Given the description of an element on the screen output the (x, y) to click on. 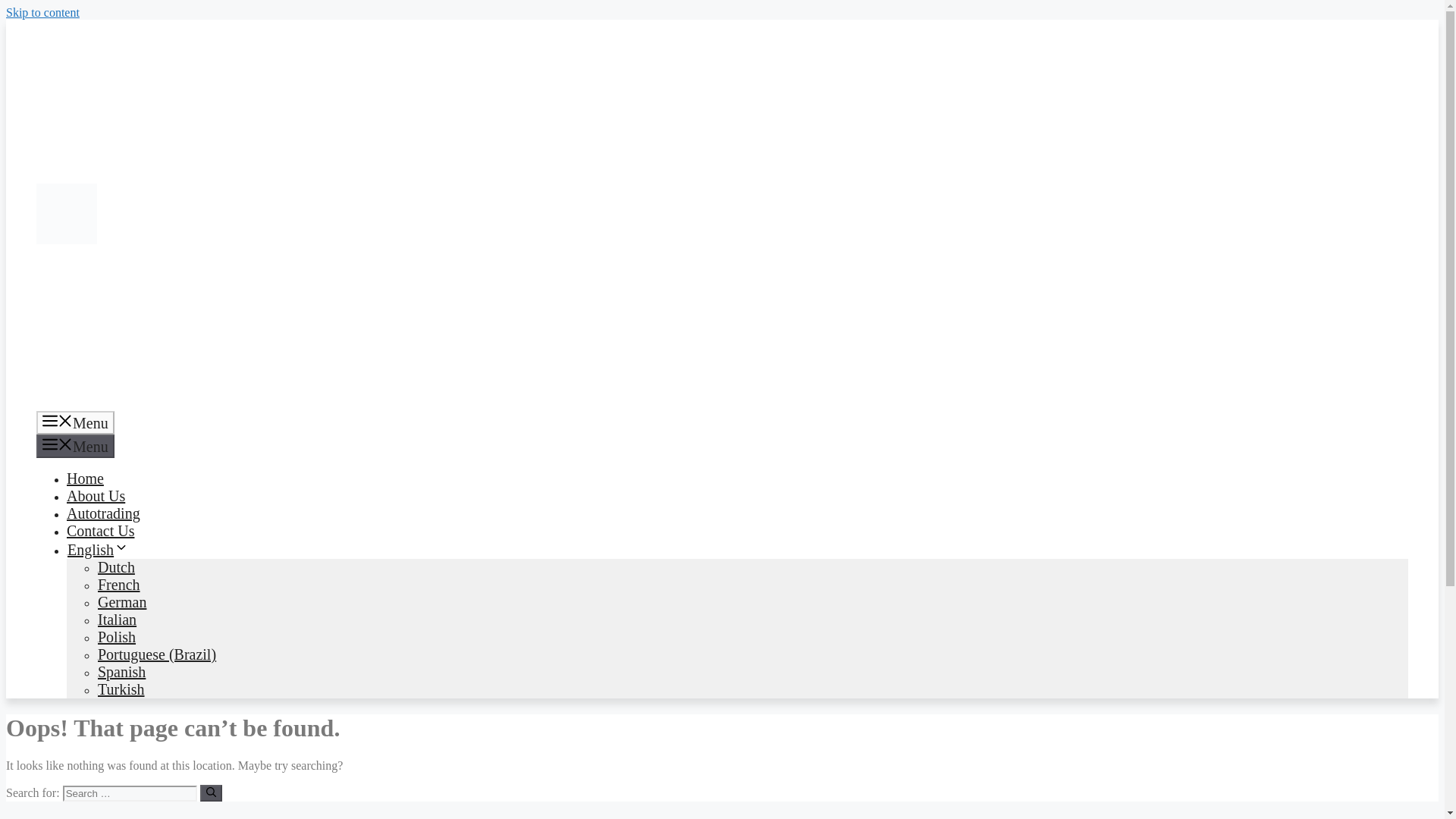
English (97, 549)
French (118, 584)
Turkish (120, 688)
Italian (116, 619)
Polish (116, 636)
Italian (116, 619)
Menu (75, 422)
Skip to content (42, 11)
Search for: (129, 793)
Polish (116, 636)
Spanish (121, 671)
German (122, 601)
Contact Us (99, 530)
Home (84, 478)
Autotrading (102, 513)
